Given the description of an element on the screen output the (x, y) to click on. 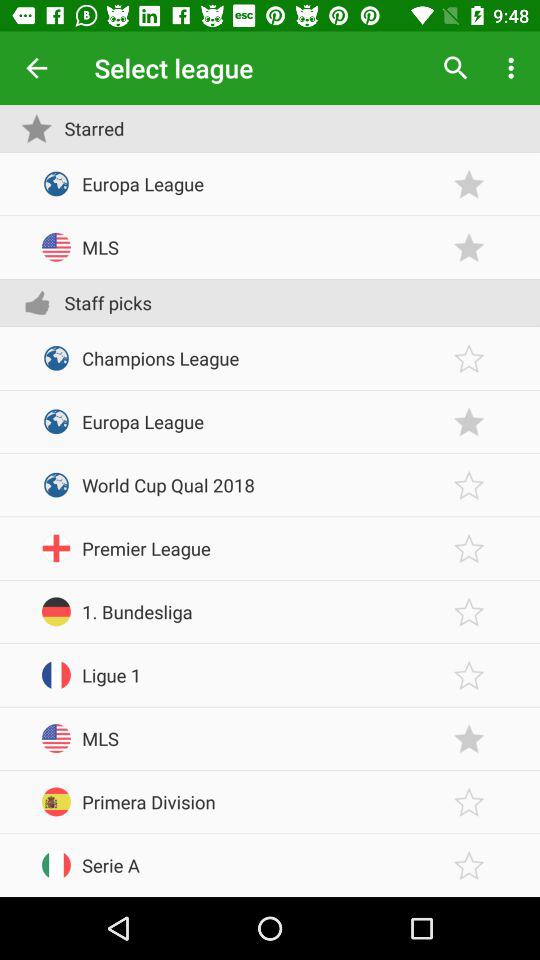
select favorite (469, 358)
